Given the description of an element on the screen output the (x, y) to click on. 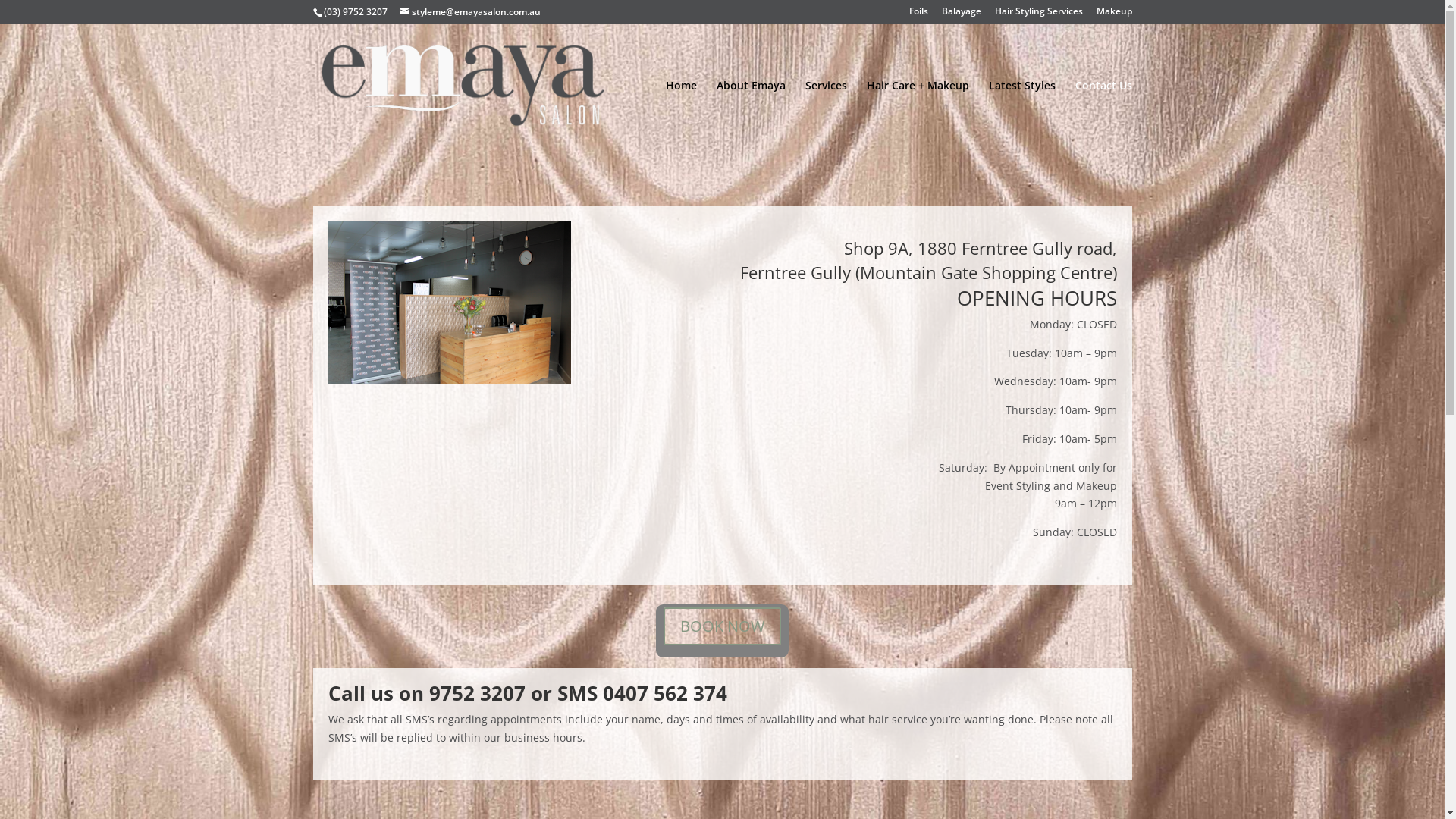
Hair Styling Services Element type: text (1038, 14)
Foils Element type: text (917, 14)
Latest Styles Element type: text (1021, 113)
BOOK NOW Element type: text (722, 626)
styleme@emayasalon.com.au Element type: text (468, 11)
Contact Us Element type: text (1103, 113)
Balayage Element type: text (961, 14)
Makeup Element type: text (1114, 14)
Hair Care + Makeup Element type: text (917, 113)
Services Element type: text (826, 113)
Home Element type: text (680, 113)
About Emaya Element type: text (749, 113)
